Given the description of an element on the screen output the (x, y) to click on. 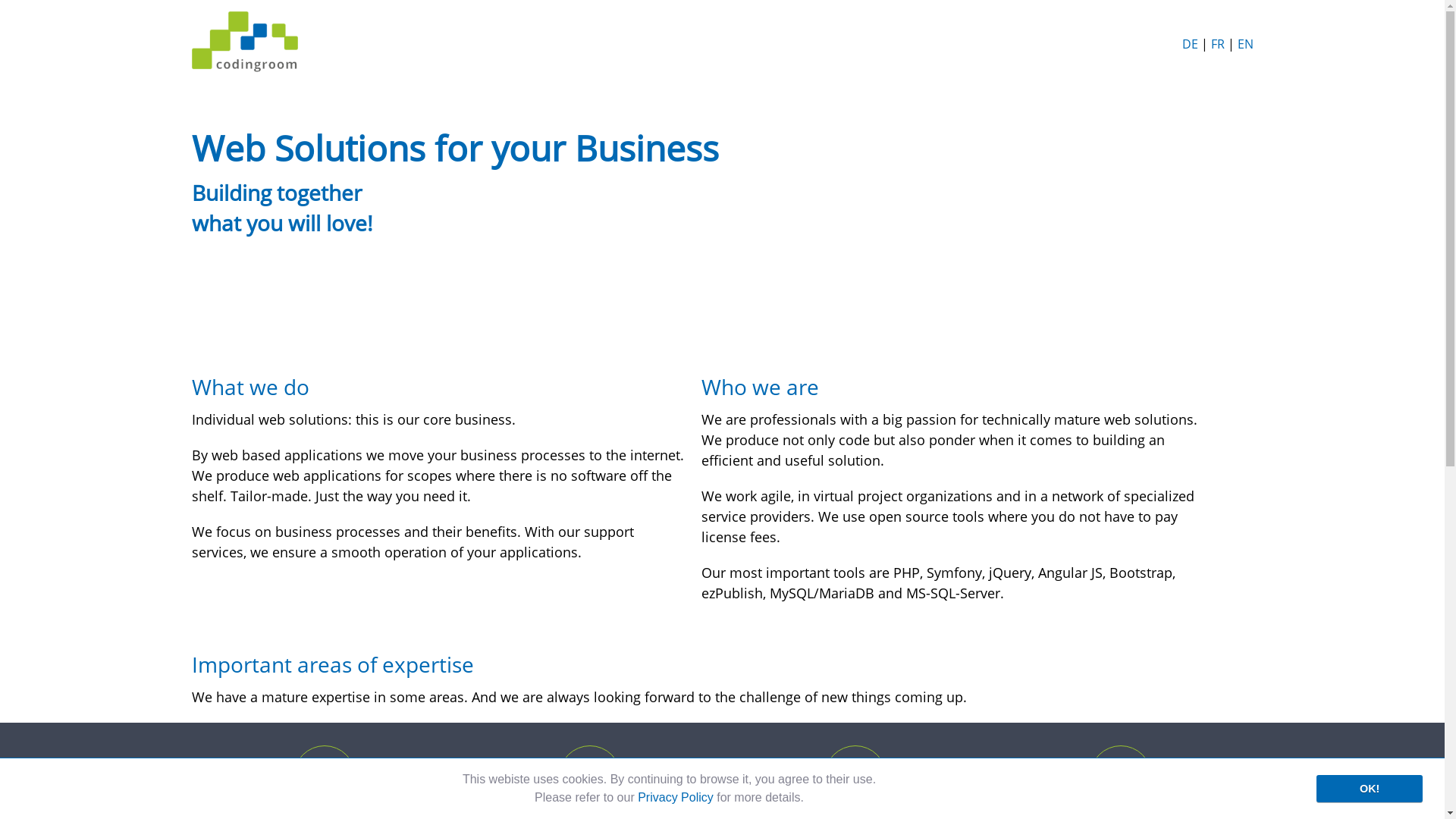
FR Element type: text (1216, 43)
DE Element type: text (1189, 43)
EN Element type: text (1245, 43)
OK! Element type: text (1369, 788)
Privacy Policy Element type: text (675, 796)
